Given the description of an element on the screen output the (x, y) to click on. 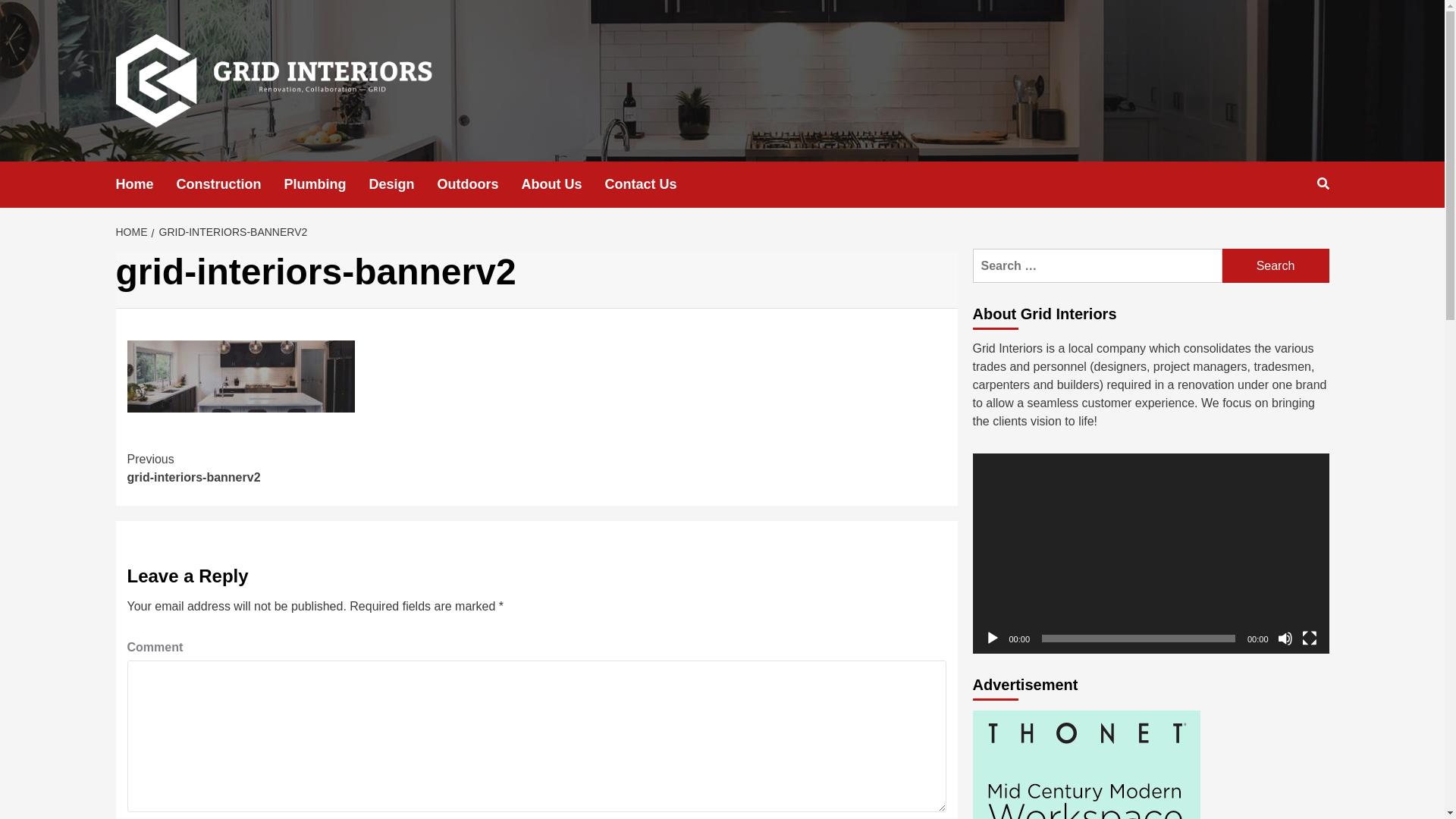
Design Element type: text (403, 184)
Outdoors Element type: text (479, 184)
Search Element type: text (1275, 265)
About Us Element type: text (563, 184)
Fullscreen Element type: hover (1308, 638)
Home Element type: text (145, 184)
Plumbing Element type: text (326, 184)
HOME Element type: text (132, 231)
Contact Us Element type: text (652, 184)
Play Element type: hover (991, 638)
Construction Element type: text (230, 184)
Mute Element type: hover (1284, 638)
Previous
grid-interiors-bannerv2 Element type: text (331, 468)
